Given the description of an element on the screen output the (x, y) to click on. 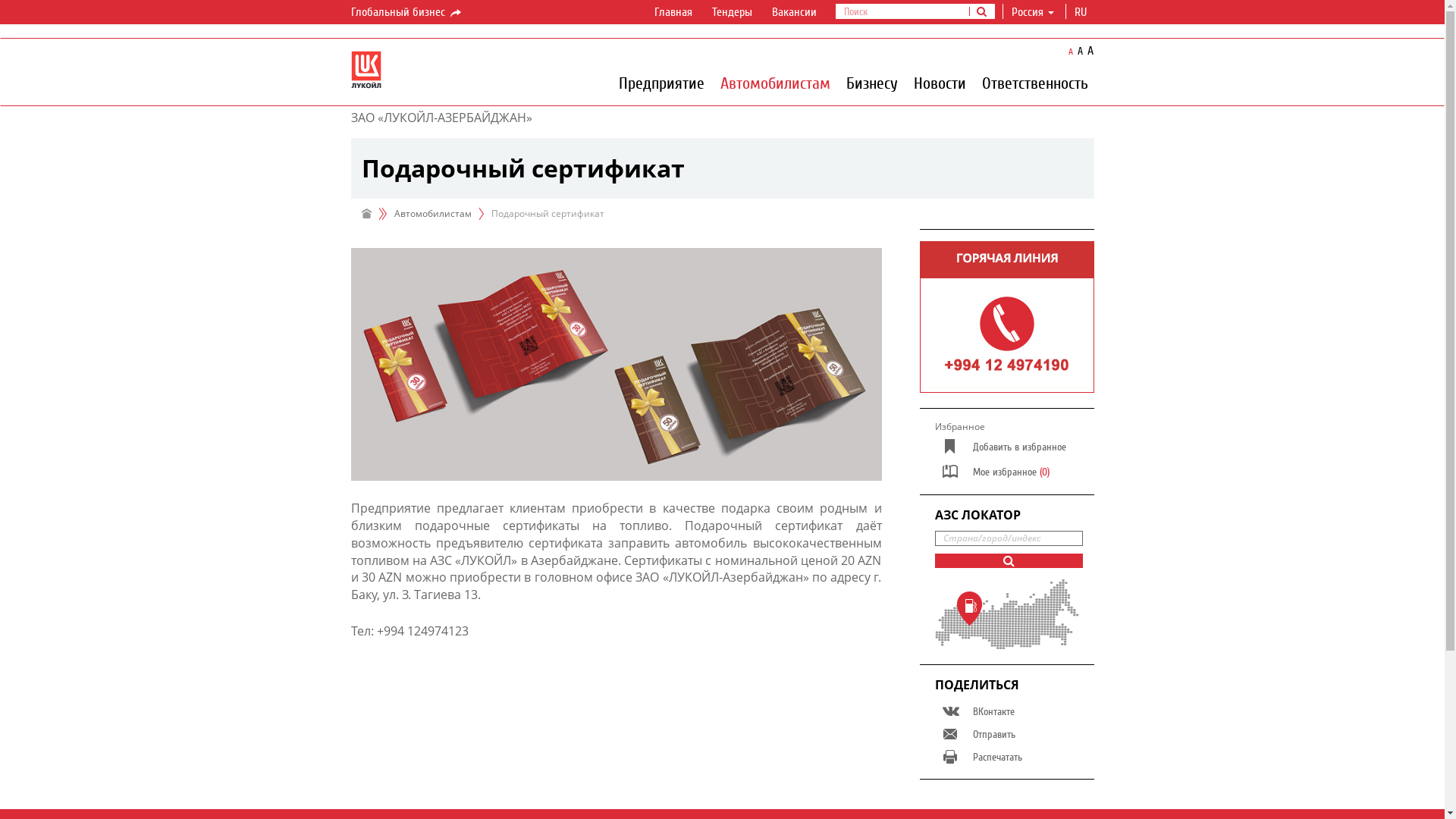
A Element type: text (1079, 51)
A Element type: text (1089, 51)
A Element type: text (1070, 51)
RU  Element type: text (1079, 11)
